Given the description of an element on the screen output the (x, y) to click on. 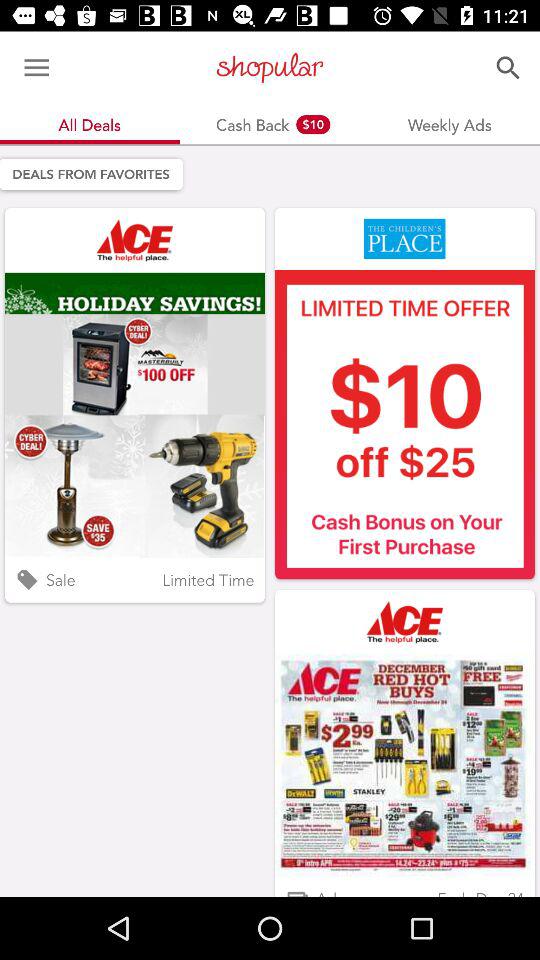
turn on item to the left of the cash back icon (36, 68)
